Given the description of an element on the screen output the (x, y) to click on. 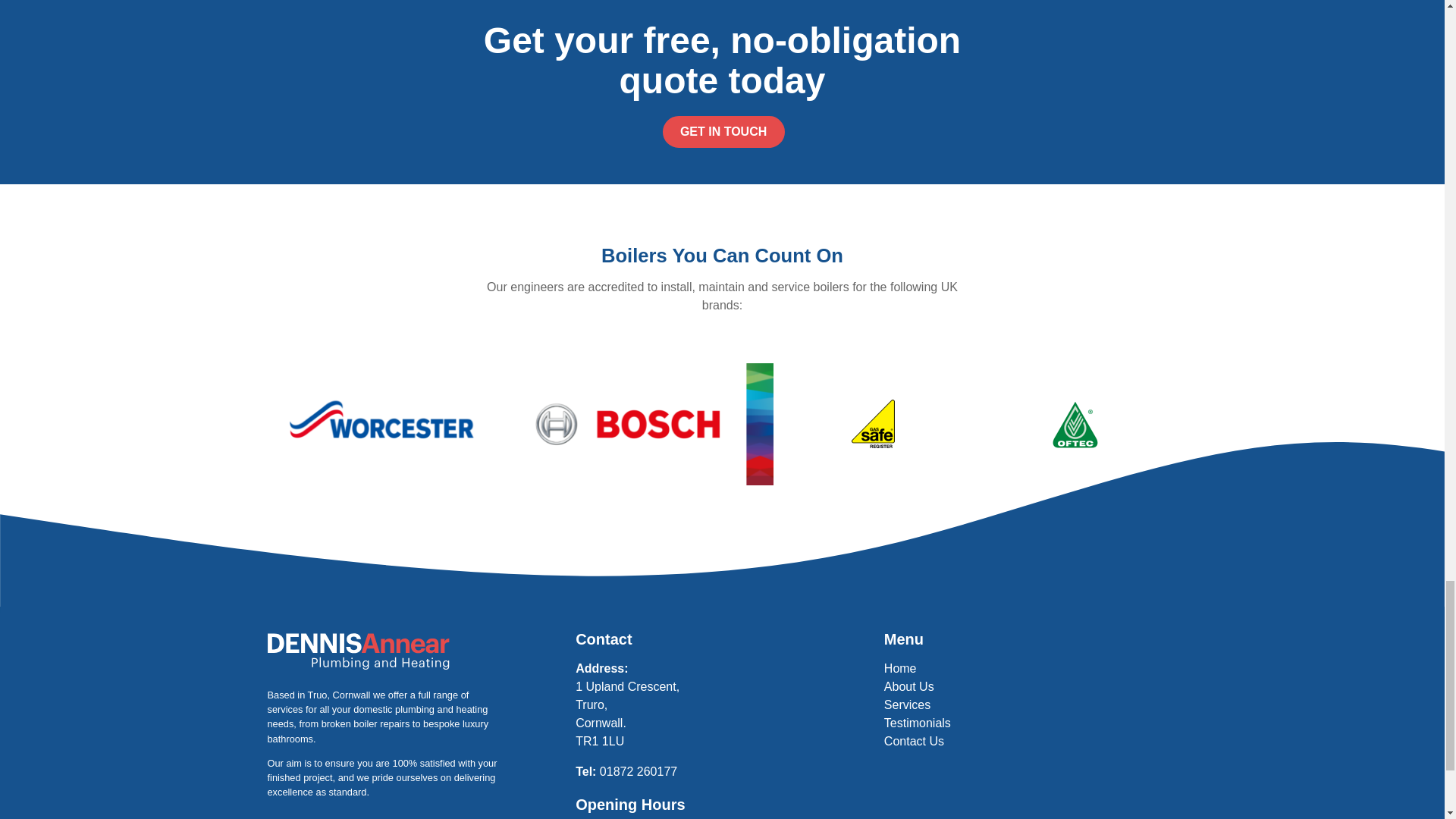
Home (900, 667)
Testimonials (916, 722)
Services (906, 704)
About Us (908, 686)
Contact Us (913, 740)
GET IN TOUCH (723, 131)
